Given the description of an element on the screen output the (x, y) to click on. 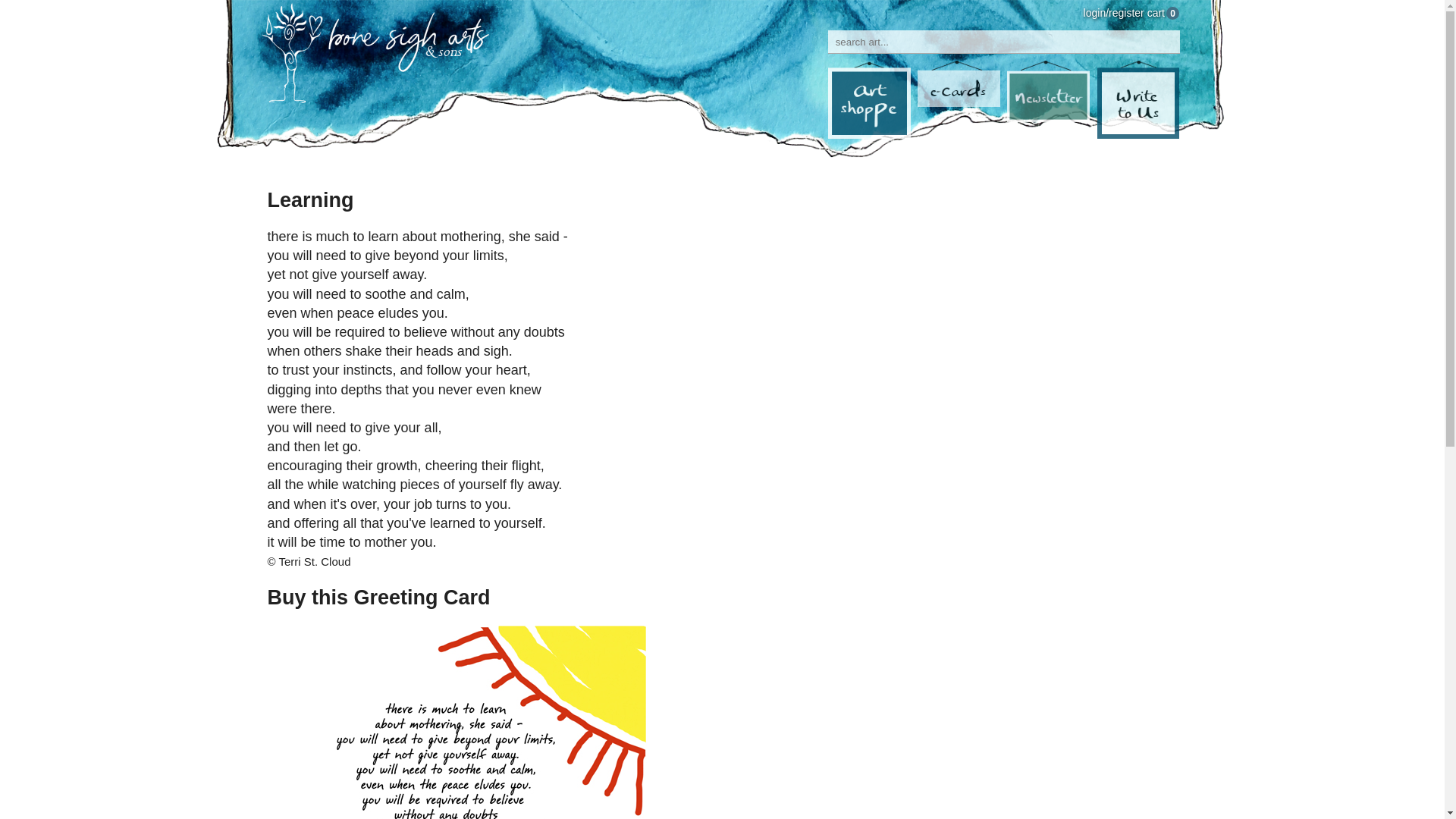
cart (1155, 12)
